Given the description of an element on the screen output the (x, y) to click on. 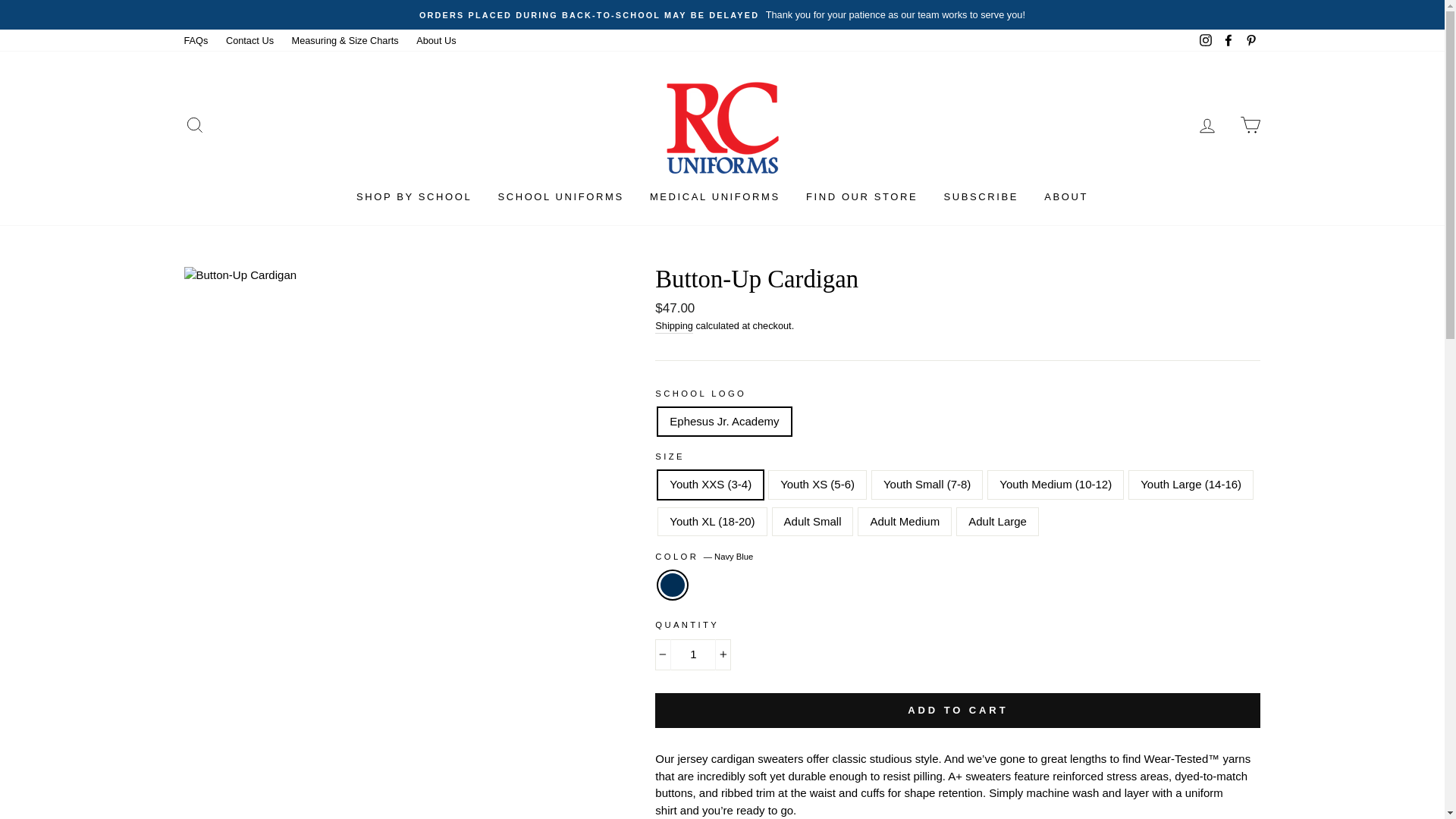
RC Uniforms on Pinterest (1250, 40)
RC Uniforms on Facebook (1228, 40)
RC Uniforms on Instagram (1205, 40)
1 (692, 654)
